Given the description of an element on the screen output the (x, y) to click on. 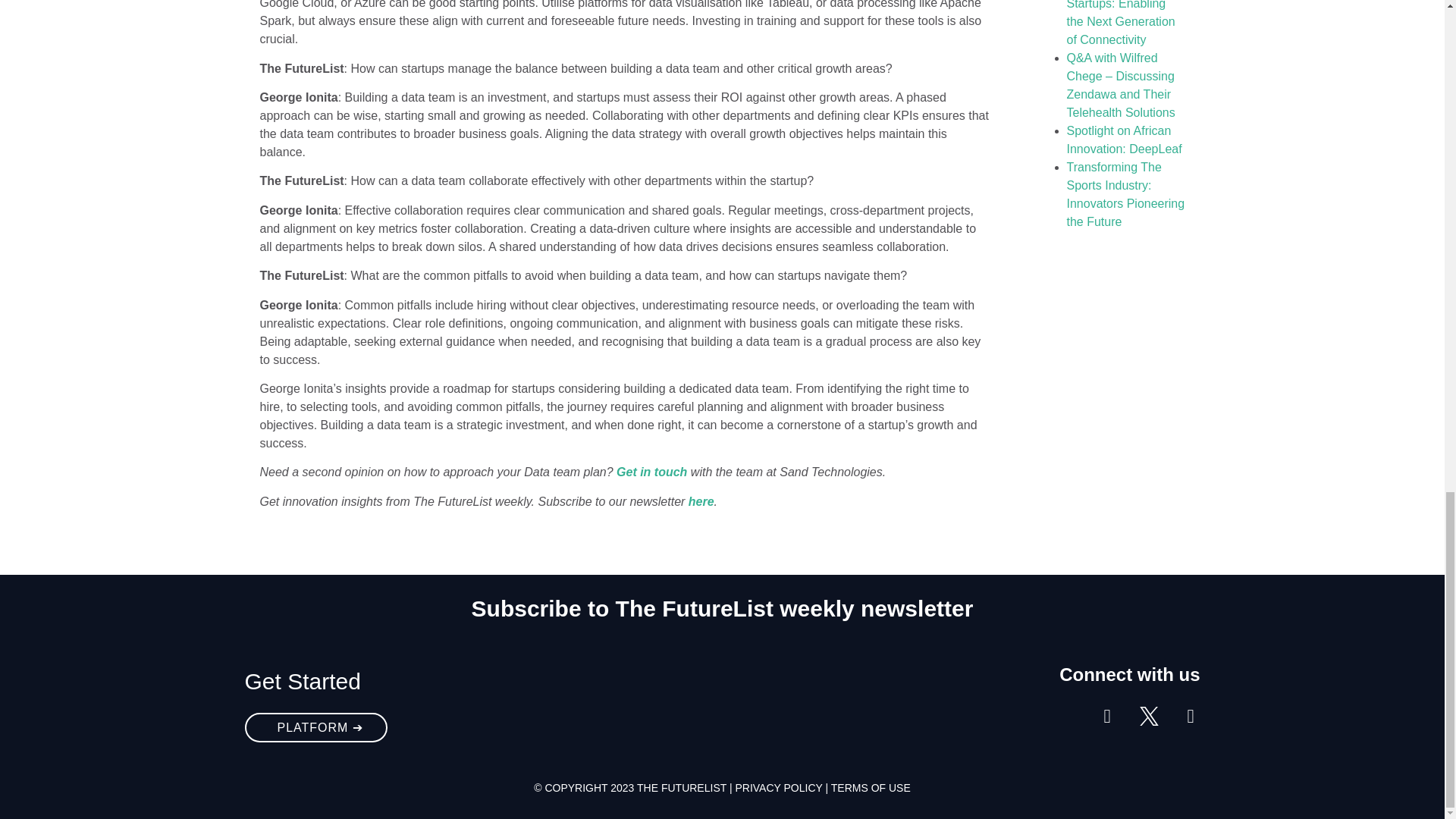
Get in touch (651, 472)
here (701, 501)
